Given the description of an element on the screen output the (x, y) to click on. 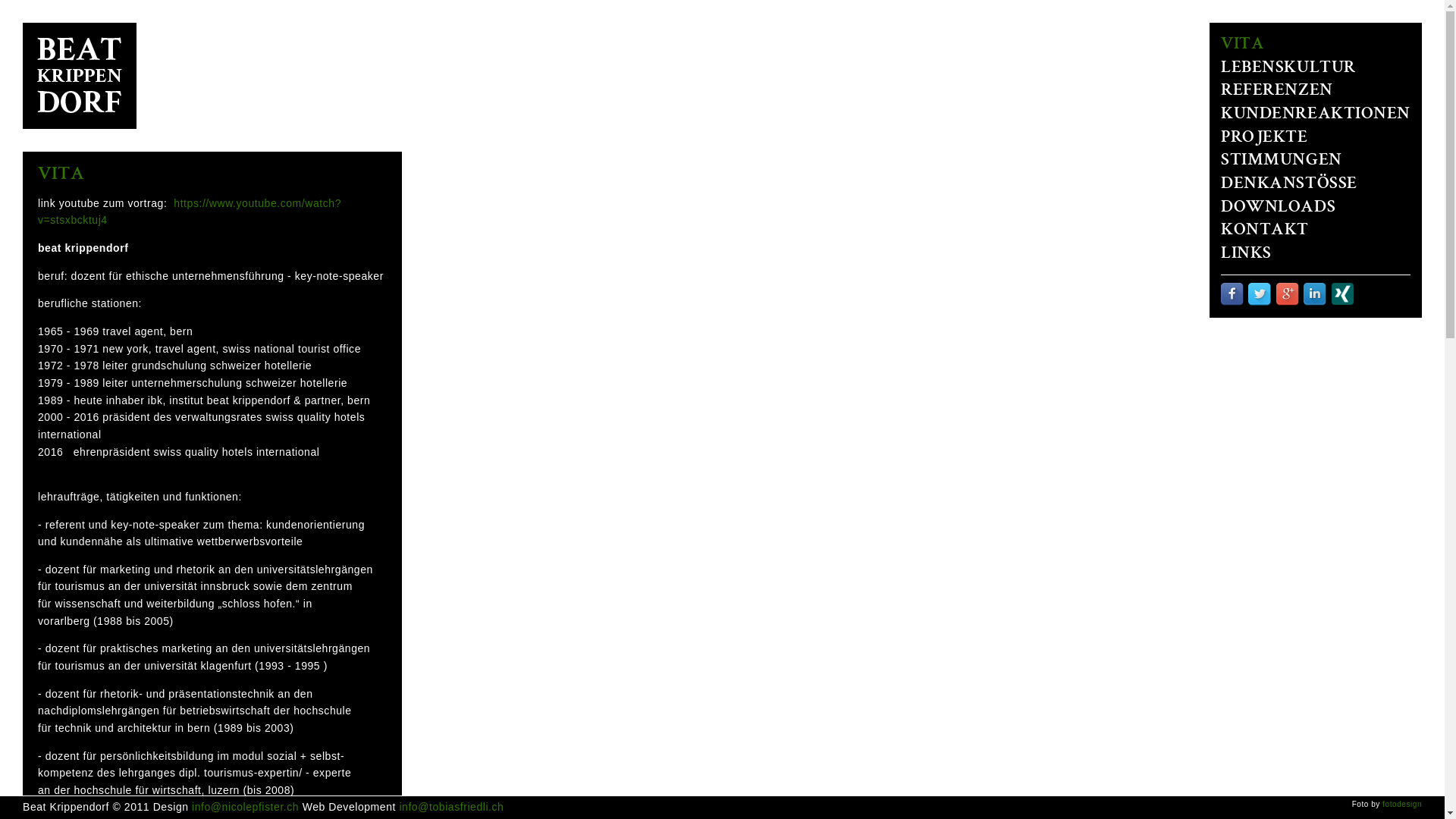
REFERENZEN Element type: text (1276, 91)
LINKS Element type: text (1245, 254)
KUNDENREAKTIONEN Element type: text (1315, 114)
STIMMUNGEN Element type: text (1281, 160)
DOWNLOADS Element type: text (1277, 207)
VITA Element type: text (1242, 44)
info@nicolepfister.ch Element type: text (244, 806)
PROJEKTE Element type: text (1263, 138)
fotodesign Element type: text (1401, 804)
LEBENSKULTUR Element type: text (1287, 68)
KONTAKT Element type: text (1264, 230)
https://www.youtube.com/watch?v=stsxbcktuj4 Element type: text (189, 211)
info@tobiasfriedli.ch Element type: text (450, 806)
